Given the description of an element on the screen output the (x, y) to click on. 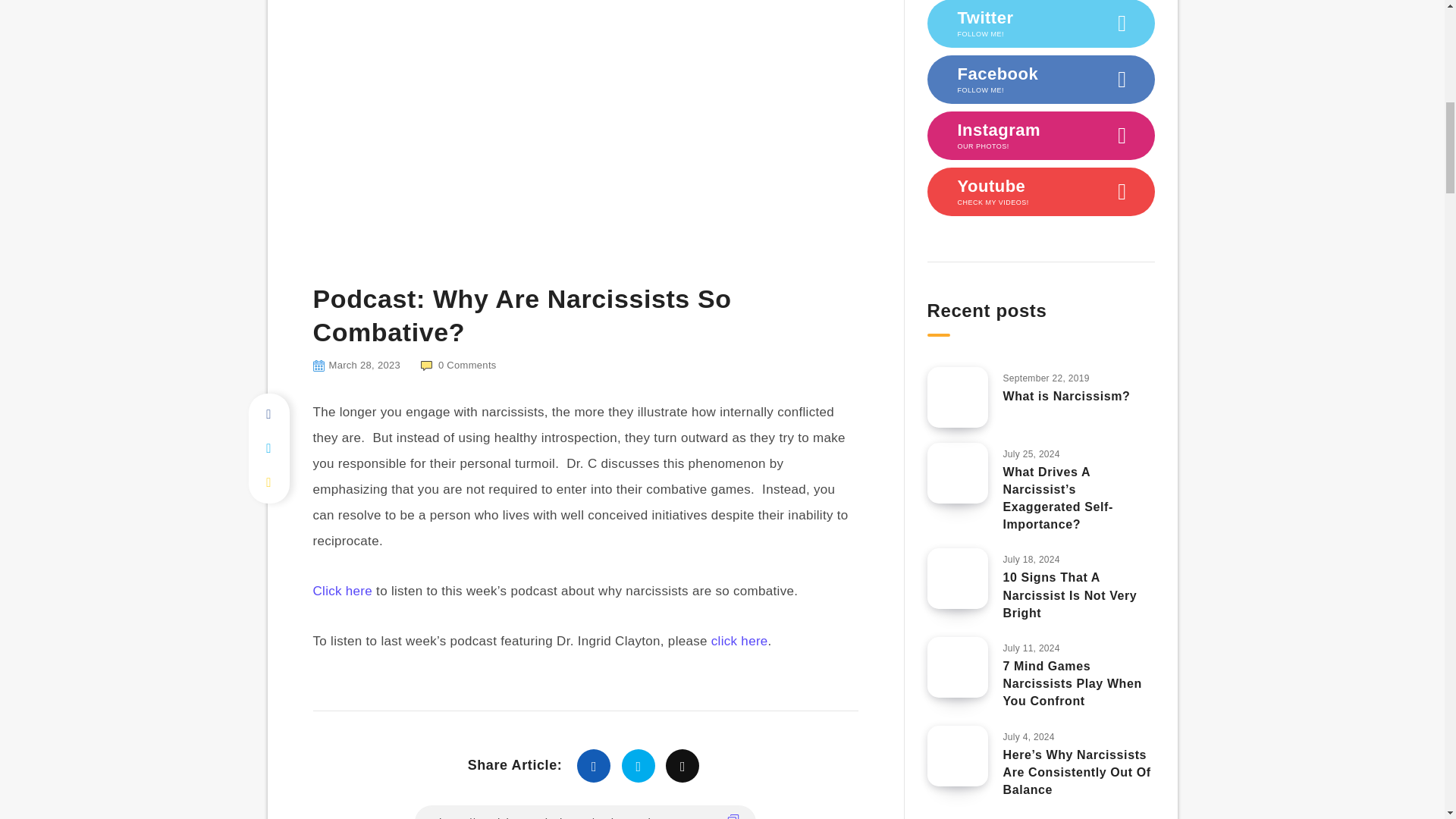
Go to comments (458, 365)
